Given the description of an element on the screen output the (x, y) to click on. 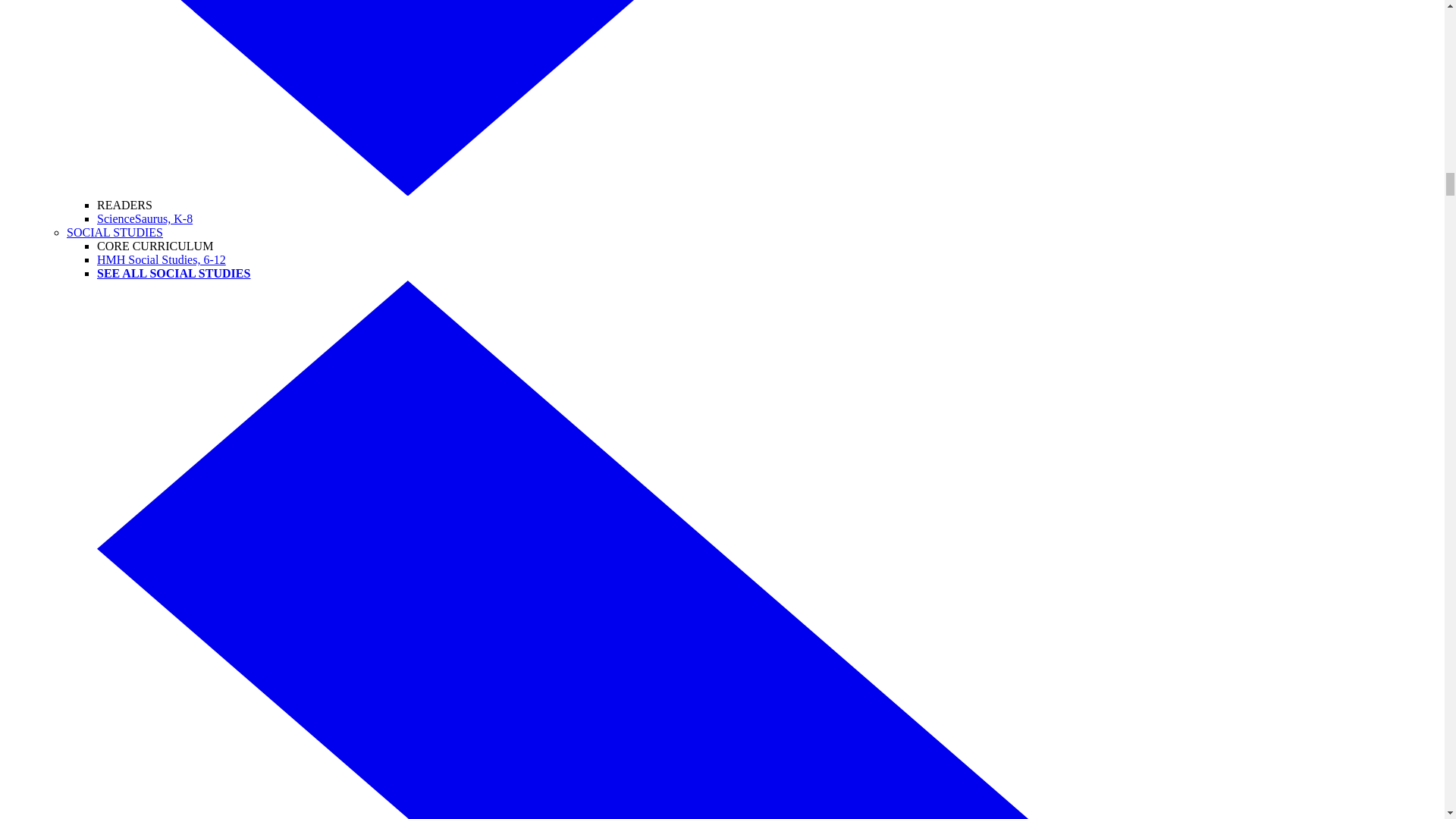
ScienceSaurus, K-8 (144, 218)
SOCIAL STUDIES (114, 232)
HMH Social Studies, 6-12 (161, 259)
